Given the description of an element on the screen output the (x, y) to click on. 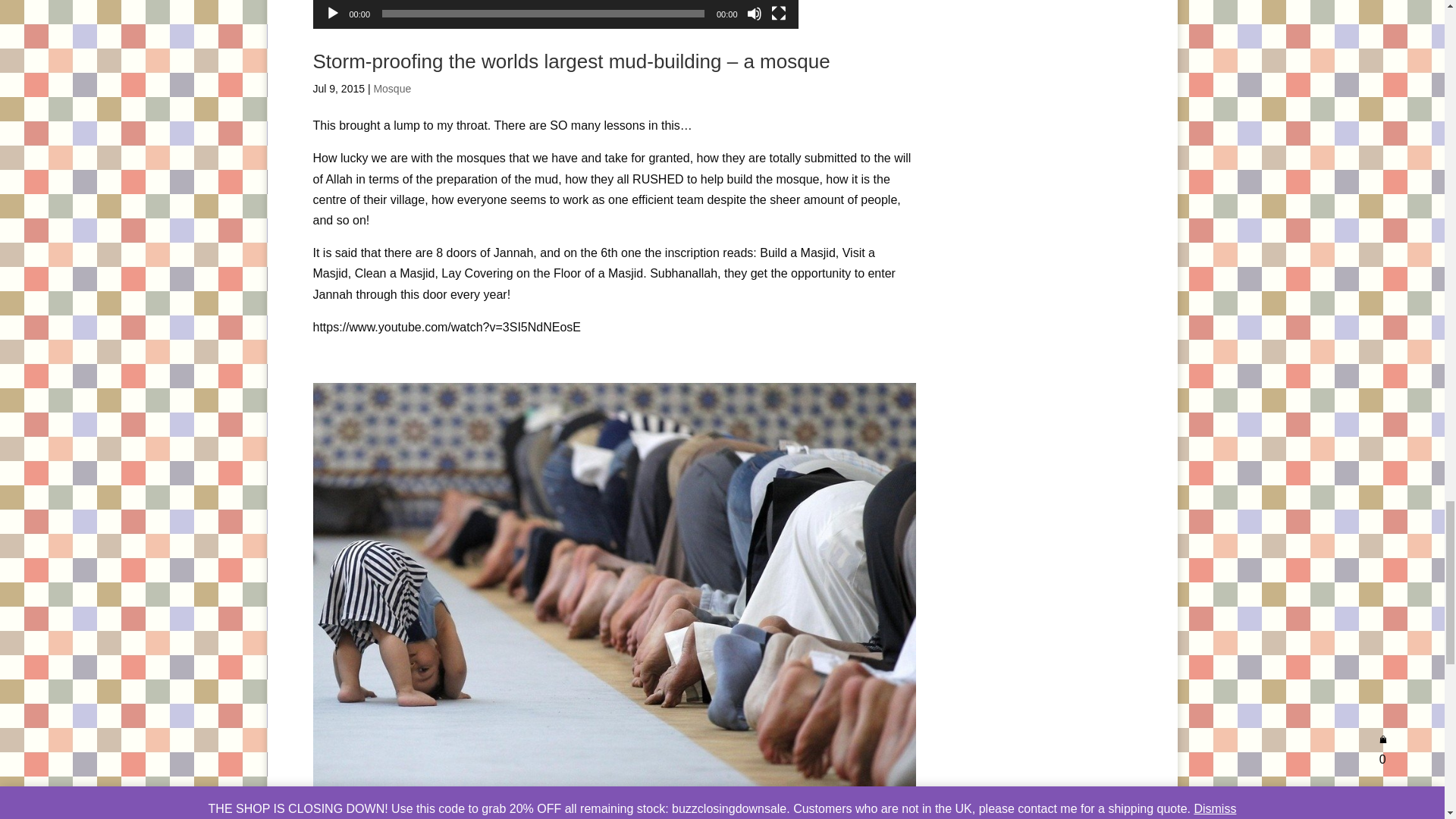
Mute (753, 13)
Fullscreen (778, 13)
Play (331, 13)
